Given the description of an element on the screen output the (x, y) to click on. 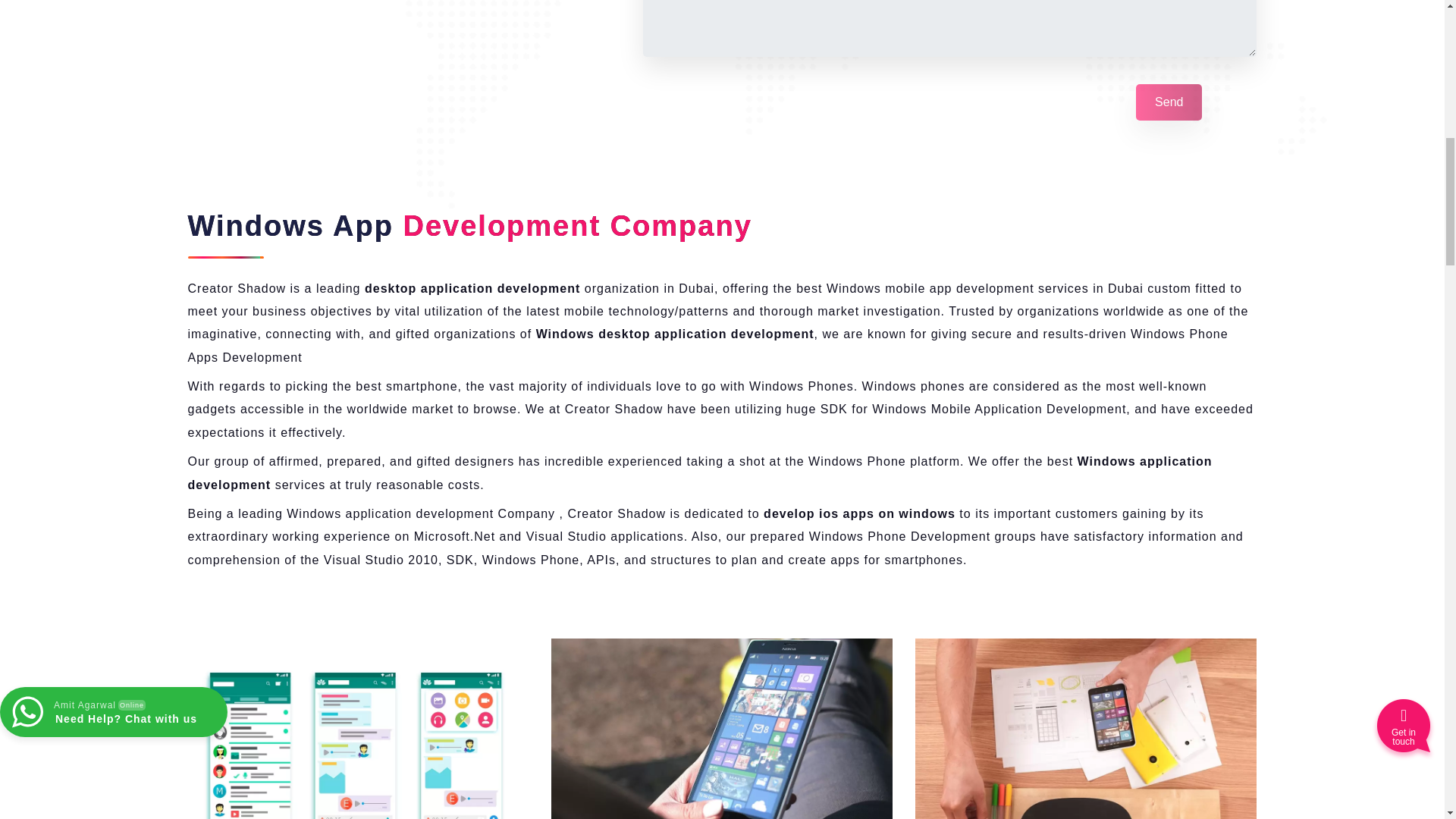
Send (1168, 101)
